Given the description of an element on the screen output the (x, y) to click on. 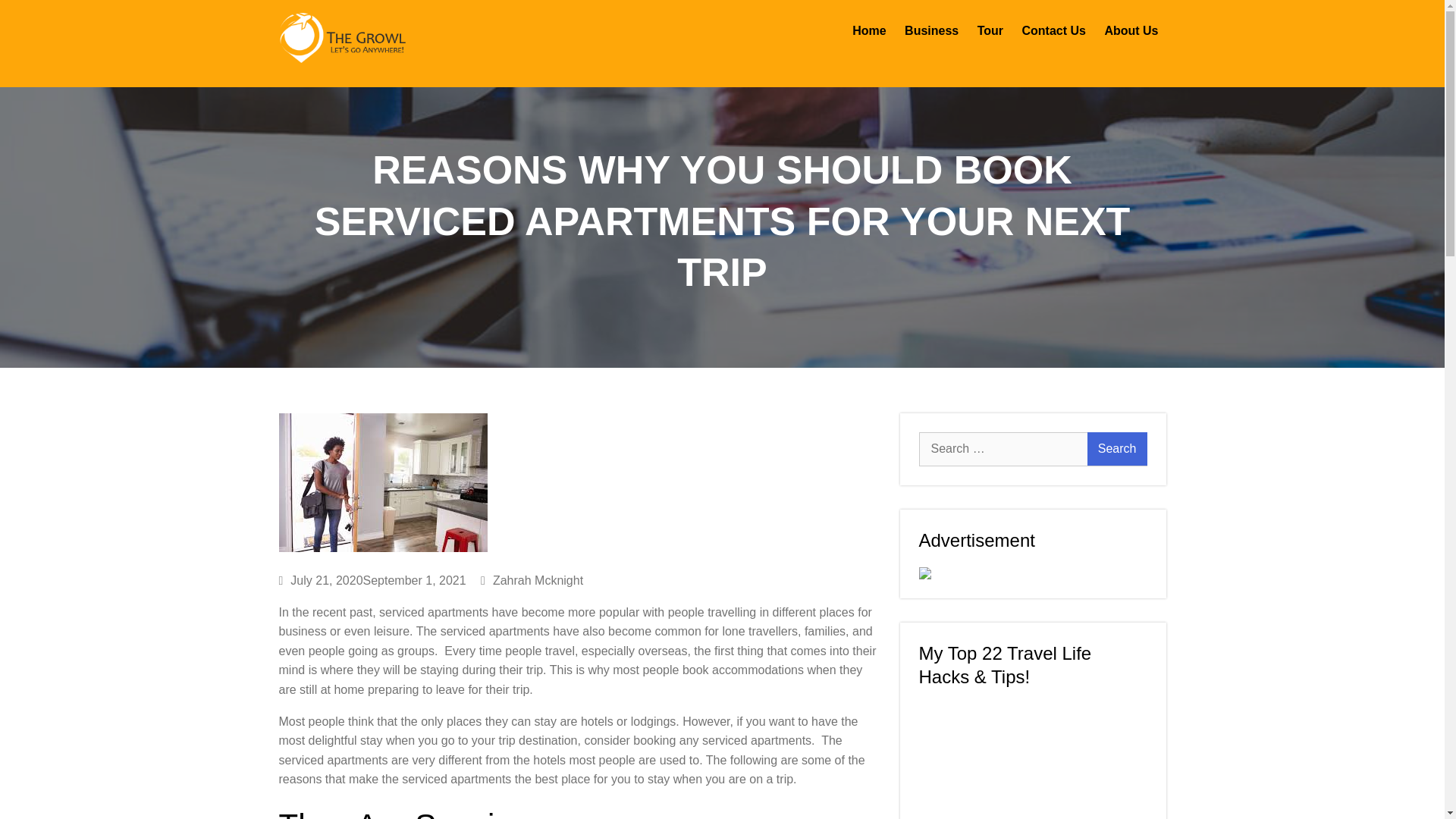
Search (1117, 449)
Search (1117, 449)
About Us (1131, 31)
July 21, 2020September 1, 2021 (372, 580)
Contact Us (1053, 31)
Zahrah Mcknight (531, 580)
Business (931, 31)
Search (1117, 449)
